Given the description of an element on the screen output the (x, y) to click on. 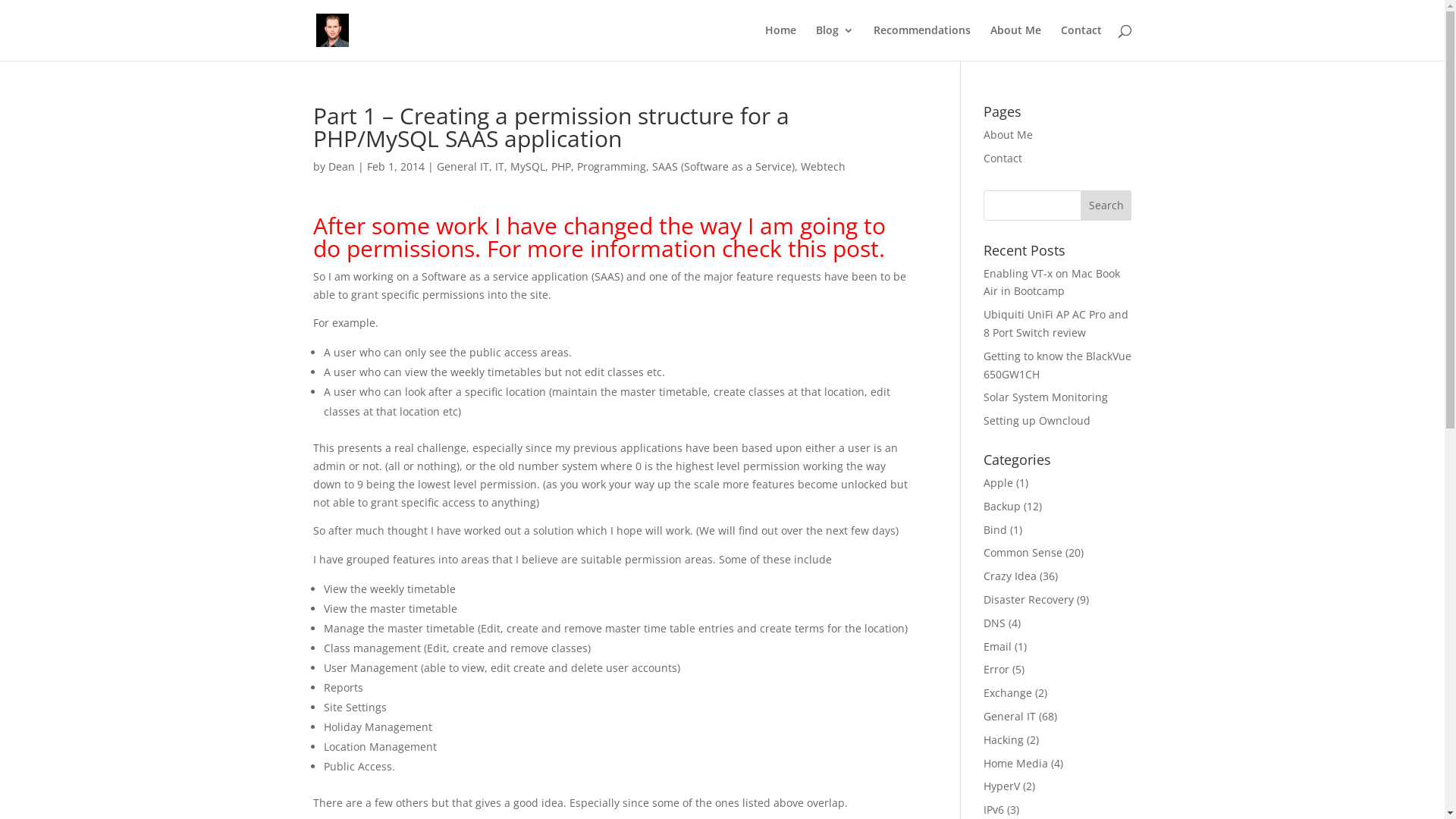
Error Element type: text (996, 669)
Getting to know the BlackVue 650GW1CH Element type: text (1057, 364)
Email Element type: text (997, 646)
Enabling VT-x on Mac Book Air in Bootcamp Element type: text (1051, 282)
Search Element type: text (1106, 205)
Solar System Monitoring Element type: text (1045, 396)
Setting up Owncloud Element type: text (1036, 420)
PHP Element type: text (560, 166)
HyperV Element type: text (1001, 785)
Disaster Recovery Element type: text (1028, 599)
Webtech Element type: text (822, 166)
Ubiquiti UniFi AP AC Pro and 8 Port Switch review Element type: text (1055, 323)
Blog Element type: text (834, 42)
Crazy Idea Element type: text (1009, 575)
General IT Element type: text (462, 166)
this post Element type: text (832, 247)
Contact Element type: text (1002, 157)
General IT Element type: text (1009, 716)
Hacking Element type: text (1003, 739)
Programming Element type: text (610, 166)
Common Sense Element type: text (1022, 552)
Recommendations Element type: text (921, 42)
Home Element type: text (779, 42)
DNS Element type: text (994, 622)
About Me Element type: text (1015, 42)
Home Media Element type: text (1015, 763)
IPv6 Element type: text (993, 809)
SAAS (Software as a Service) Element type: text (723, 166)
MySQL Element type: text (526, 166)
Contact Element type: text (1080, 42)
About Me Element type: text (1007, 134)
Dean Element type: text (340, 166)
Exchange Element type: text (1007, 692)
Apple Element type: text (998, 482)
Bind Element type: text (995, 529)
IT Element type: text (498, 166)
Backup Element type: text (1001, 505)
